Given the description of an element on the screen output the (x, y) to click on. 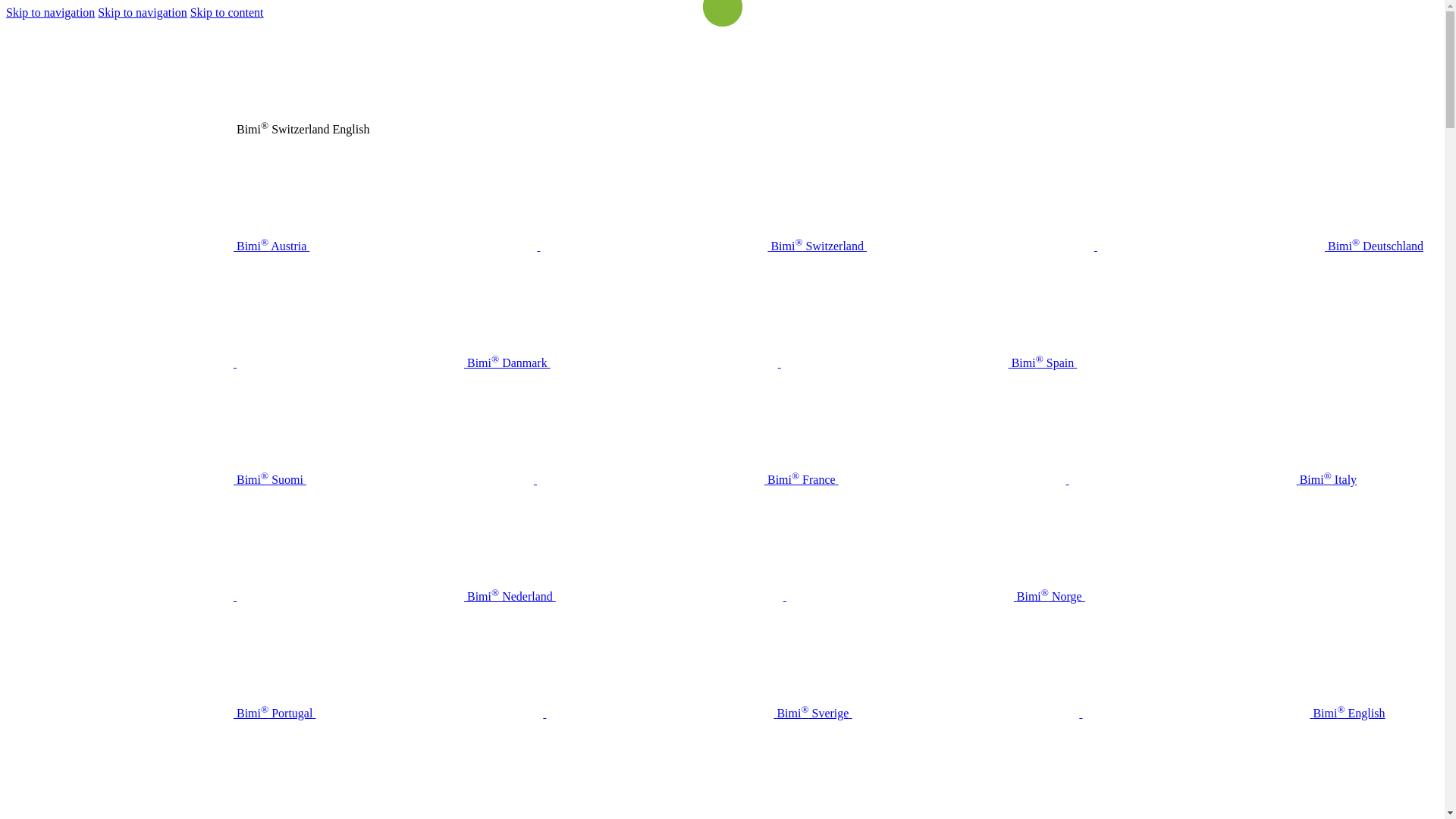
Skip to navigation Element type: text (50, 12)
Skip to content Element type: text (226, 12)
Skip to navigation Element type: text (141, 12)
